Given the description of an element on the screen output the (x, y) to click on. 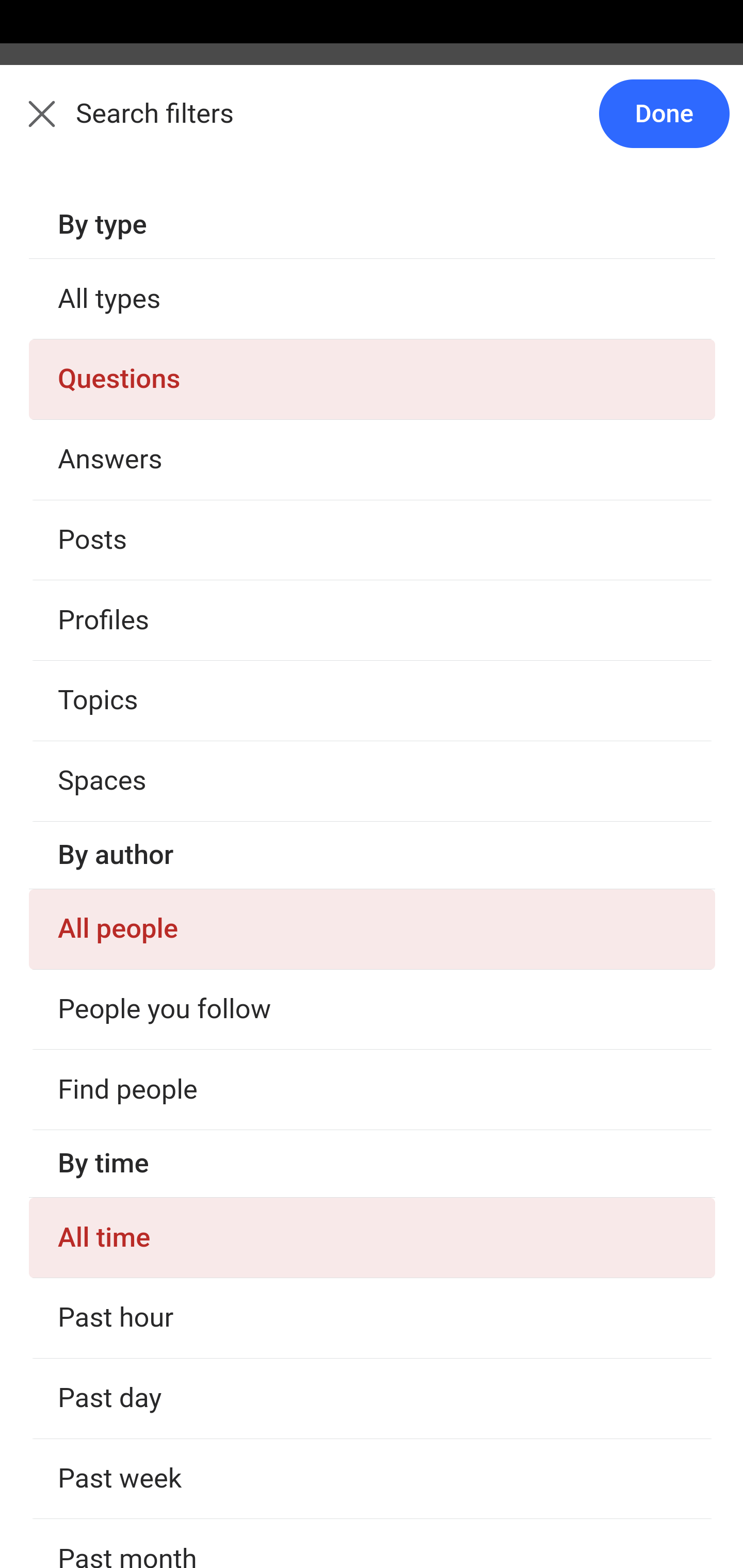
Back Search (371, 125)
Back (30, 125)
Why did NVIDIA win the GPU market? (372, 1092)
